Given the description of an element on the screen output the (x, y) to click on. 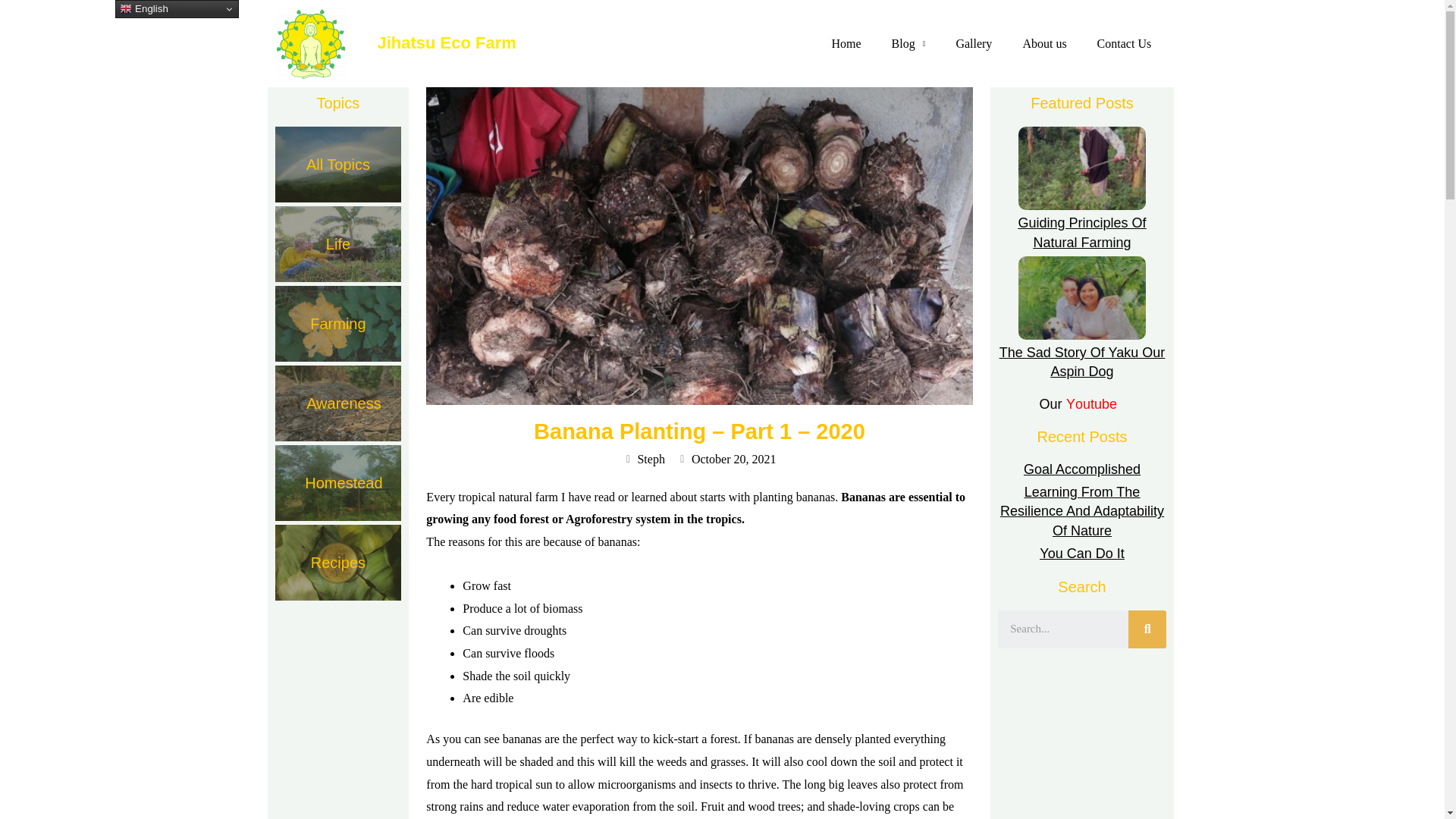
Blog (908, 43)
Farming (338, 323)
logo large jihatsu eco farm (310, 43)
All Topics (338, 164)
Guiding Principles Of Natural Farming (1081, 232)
Gallery (973, 43)
About us (1044, 43)
Life (338, 243)
Contact Us (1124, 43)
Jihatsu Eco Farm (446, 42)
Home (845, 43)
Homestead (338, 482)
Recipes (338, 562)
Awareness (338, 403)
Search (1147, 629)
